Given the description of an element on the screen output the (x, y) to click on. 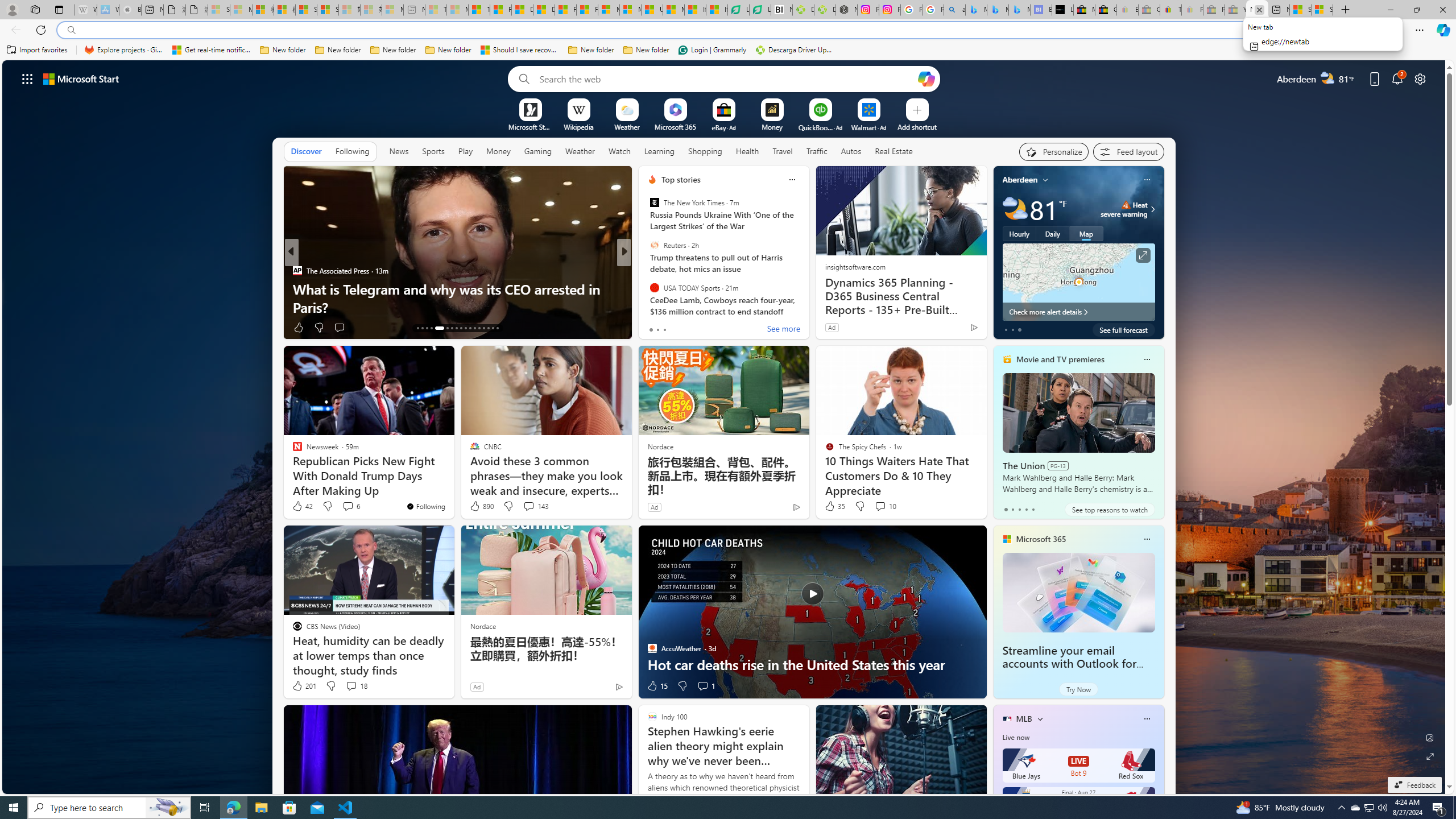
Traffic (816, 151)
AutomationID: backgroundImagePicture (723, 426)
421 Like (654, 327)
Feed settings (1128, 151)
Microsoft Services Agreement - Sleeping (241, 9)
View comments 7 Comment (702, 327)
Payments Terms of Use | eBay.com - Sleeping (1192, 9)
Expand background (1430, 756)
AutomationID: tab-17 (436, 328)
BuzzFeed (647, 288)
Hourly (1018, 233)
